Given the description of an element on the screen output the (x, y) to click on. 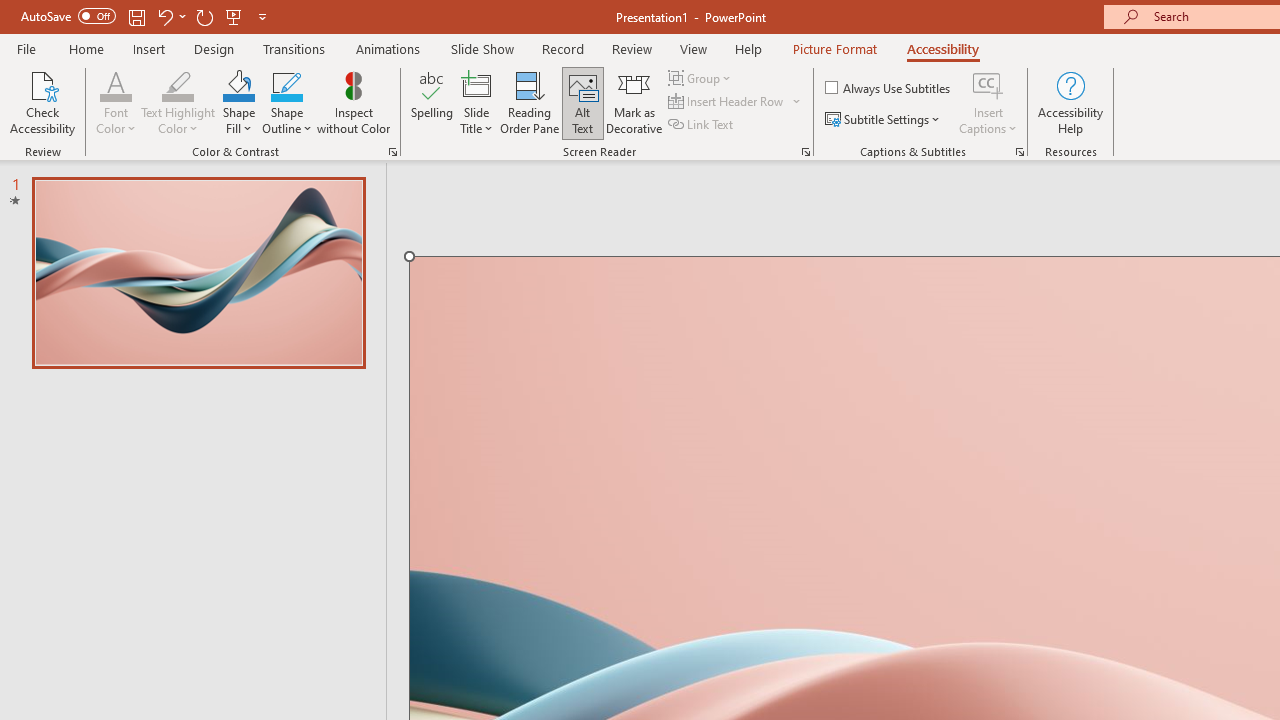
Screen Reader (805, 151)
Reading Order Pane (529, 102)
Captions & Subtitles (1019, 151)
Always Use Subtitles (889, 87)
